Given the description of an element on the screen output the (x, y) to click on. 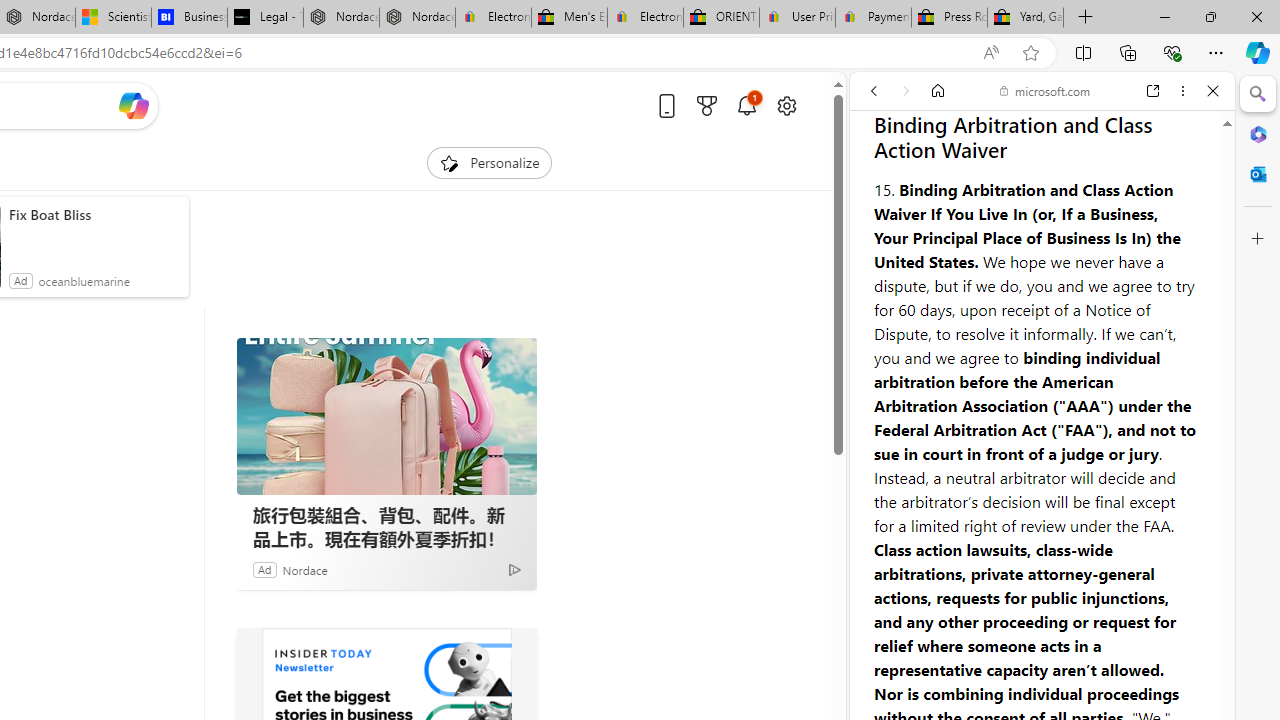
Outlook (1258, 174)
Personalize (488, 162)
Open settings (786, 105)
This site scope (936, 180)
Payments Terms of Use | eBay.com (873, 17)
Home (938, 91)
Ad (264, 569)
Nordace (304, 569)
